Given the description of an element on the screen output the (x, y) to click on. 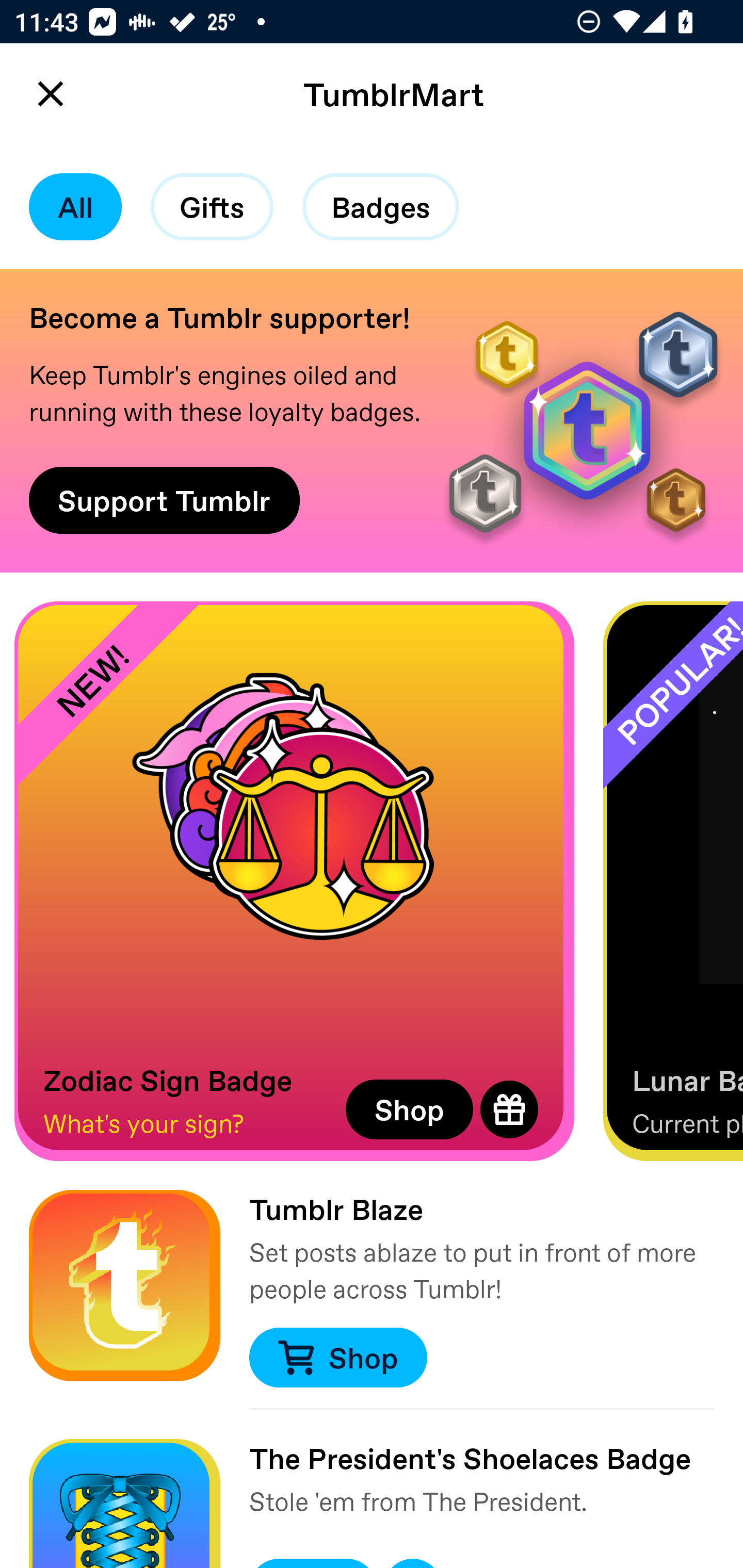
All (74, 206)
Gifts (211, 206)
Badges (380, 206)
Support Tumblr (163, 500)
NEW! Zodiac Sign Badge What's your sign? Shop (294, 881)
Shop (409, 1108)
Shop (337, 1357)
